Given the description of an element on the screen output the (x, y) to click on. 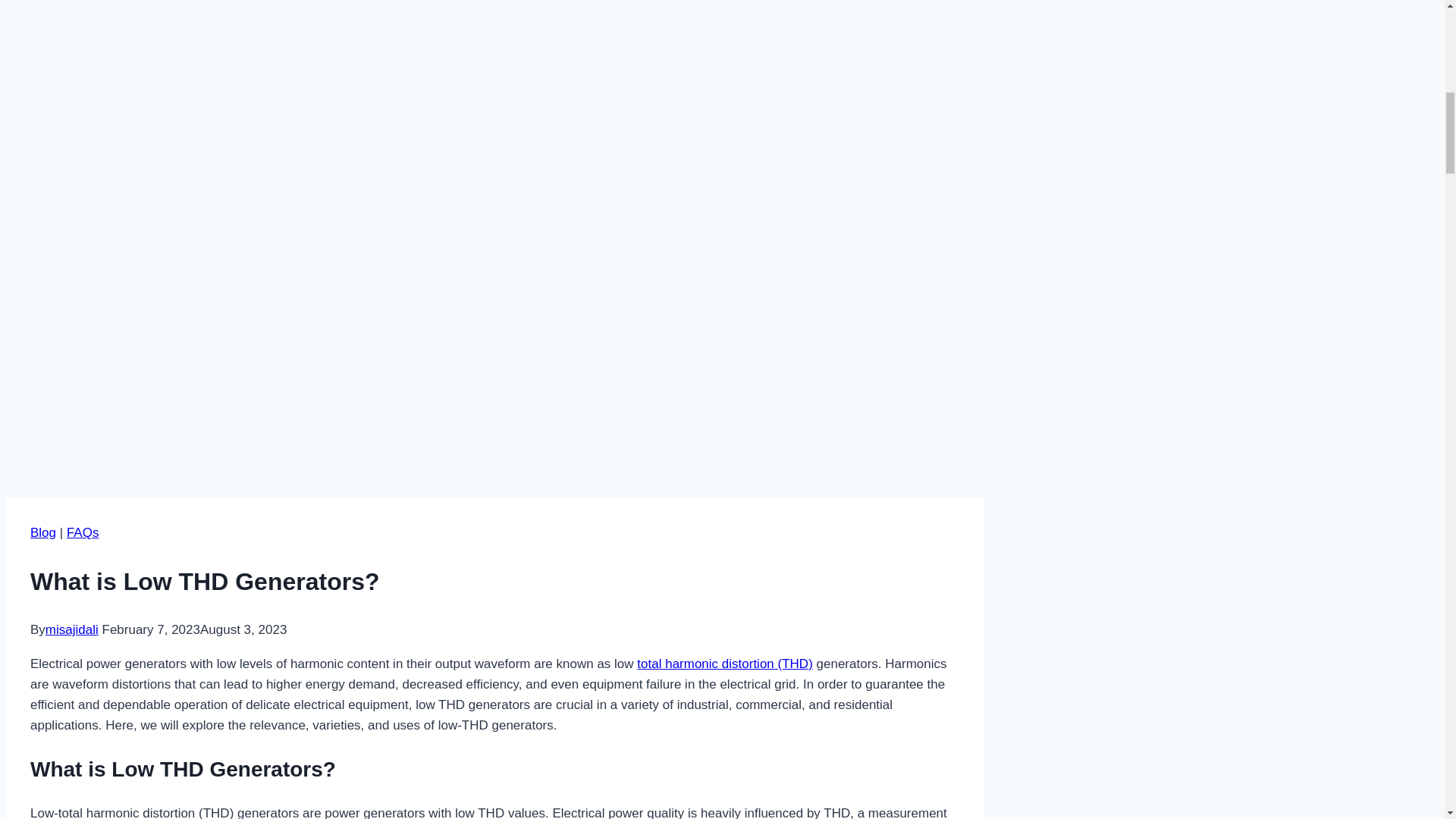
FAQs (82, 532)
misajidali (72, 629)
Blog (43, 532)
